Given the description of an element on the screen output the (x, y) to click on. 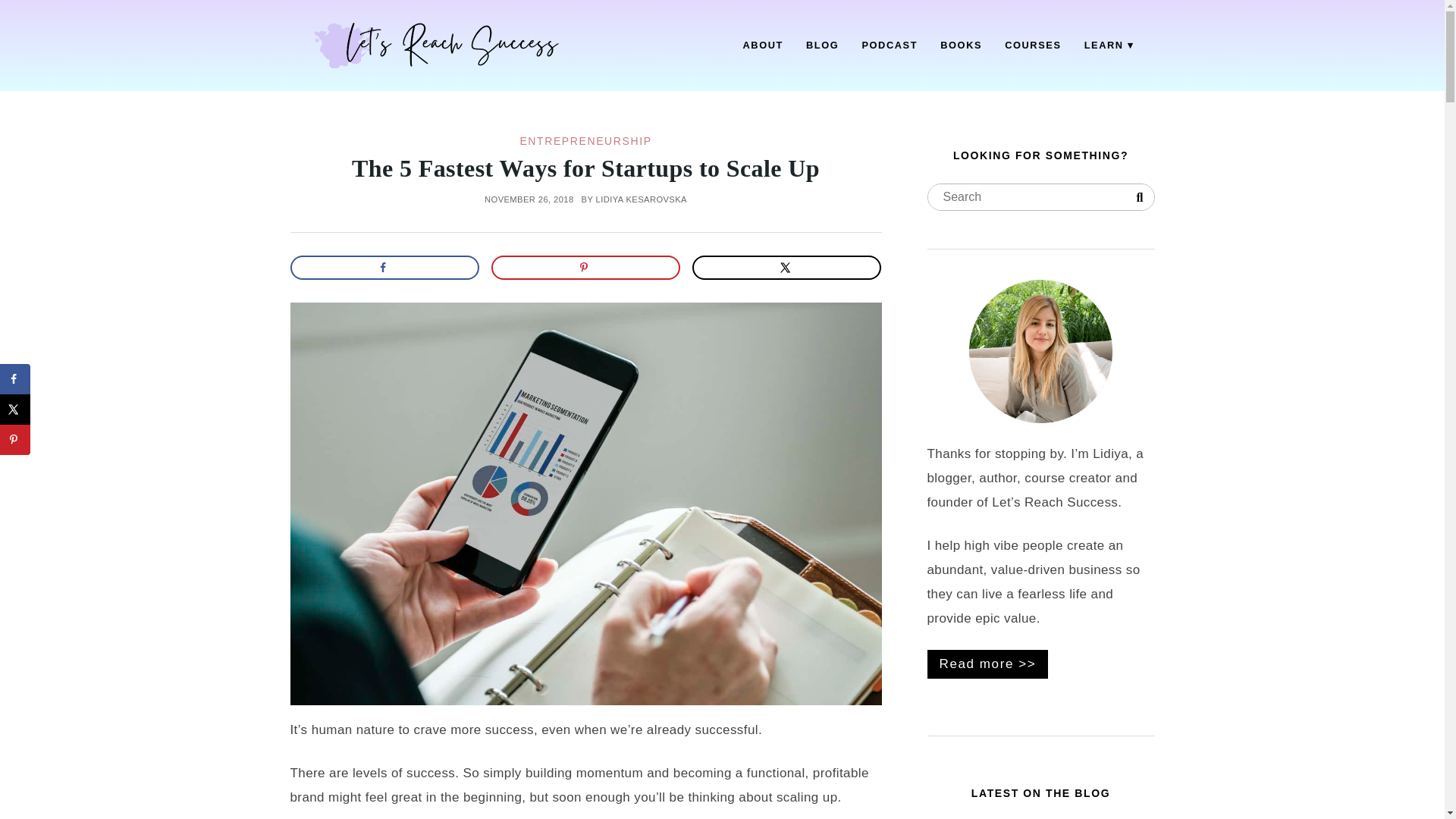
Share on Facebook (15, 378)
PODCAST (889, 45)
ABOUT (763, 45)
BLOG (822, 45)
Save to Pinterest (15, 440)
The 5 Fastest Ways for Startups to Scale Up (585, 167)
ENTREPRENEURSHIP (584, 141)
LEARN (1109, 45)
BOOKS (960, 45)
COURSES (1032, 45)
Share on X (787, 267)
Save to Pinterest (586, 267)
Share on X (15, 409)
The 5 Fastest Ways for Startups to Scale Up (585, 167)
Share on Facebook (384, 267)
